Given the description of an element on the screen output the (x, y) to click on. 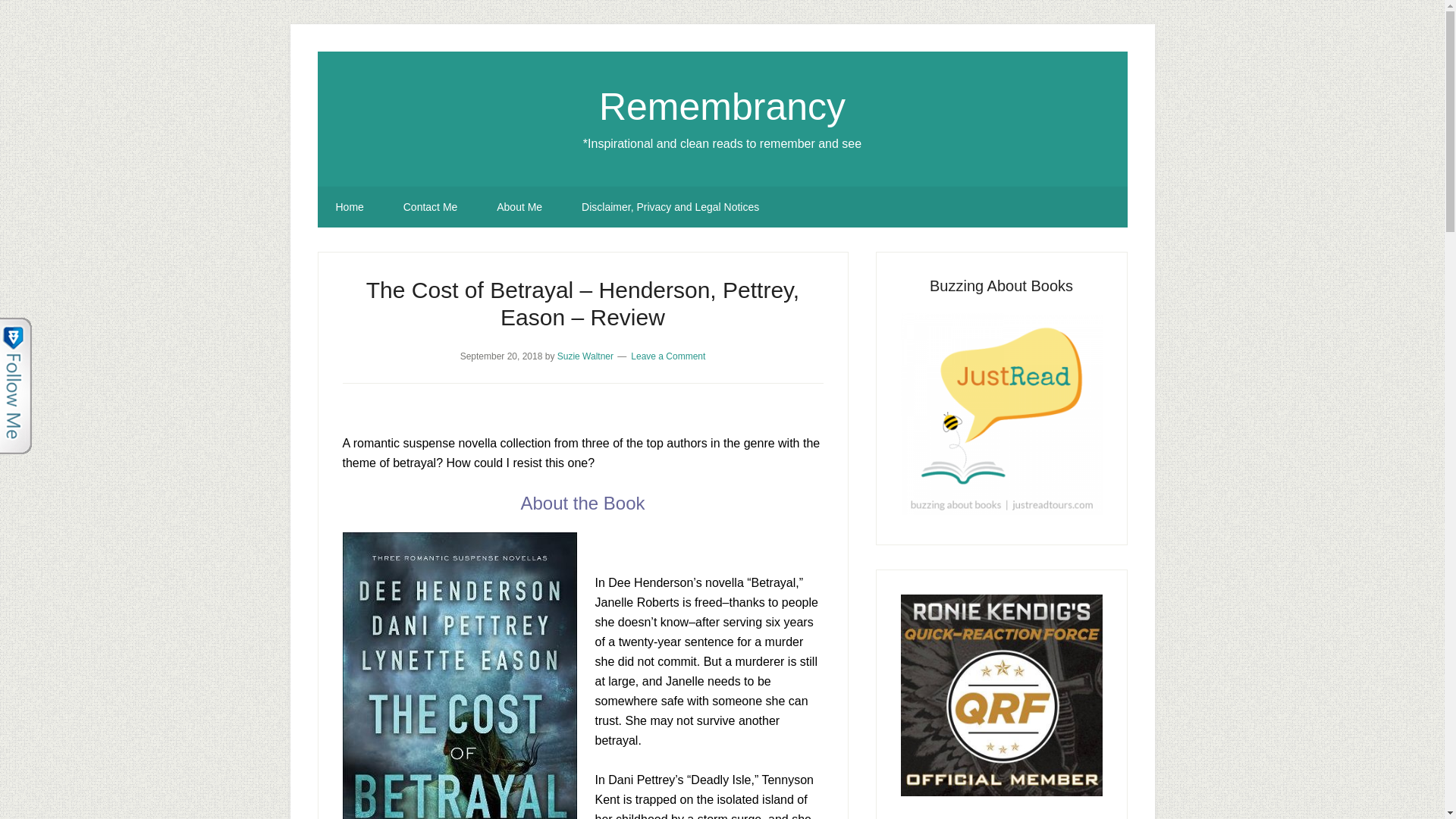
Contact Me (430, 206)
About Me (519, 206)
Remembrancy (721, 106)
Leave a Comment (667, 356)
Suzie Waltner (584, 356)
Home (349, 206)
Disclaimer, Privacy and Legal Notices (670, 206)
